Given the description of an element on the screen output the (x, y) to click on. 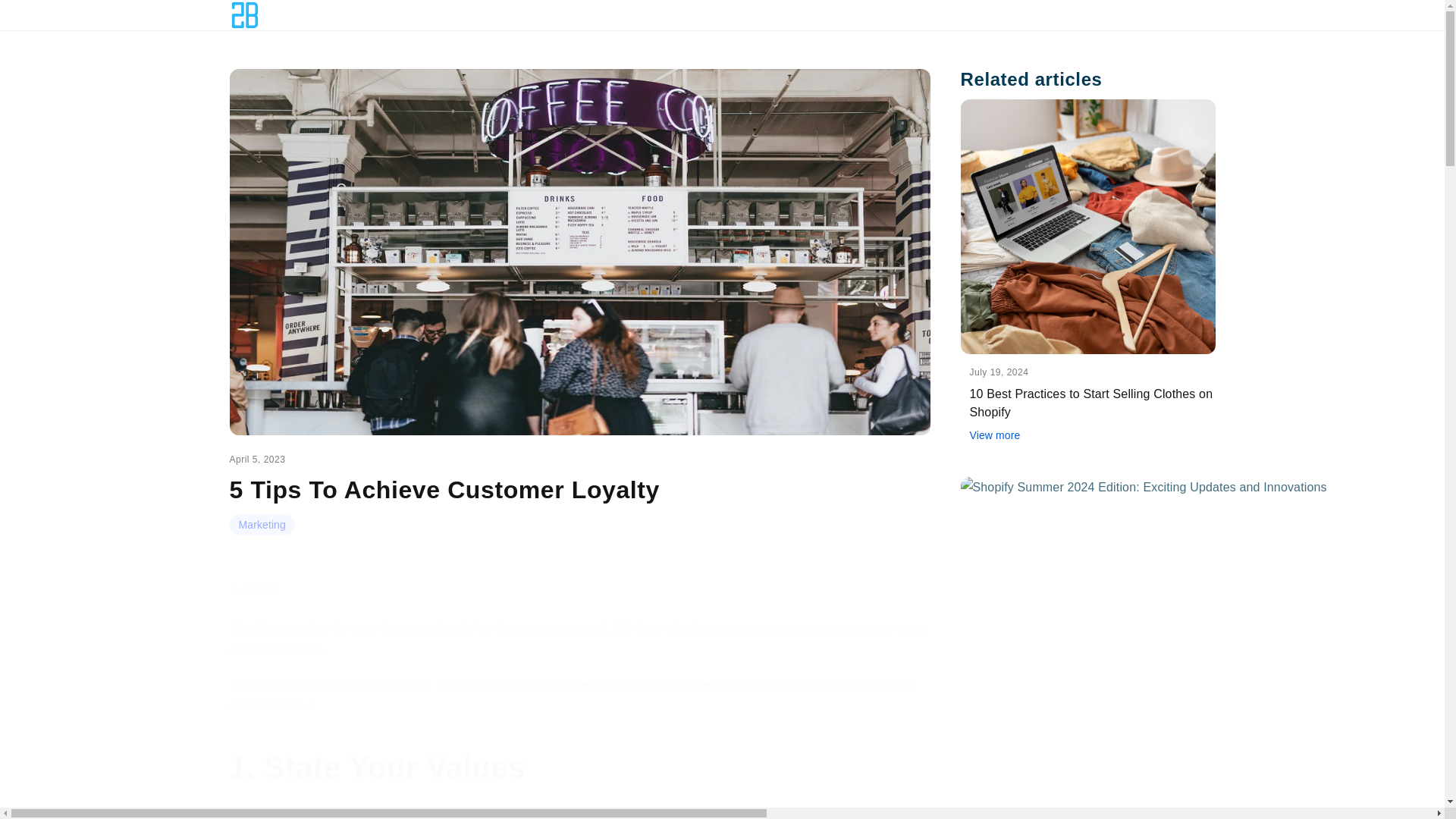
View more (1091, 435)
Apps (877, 14)
Blogs (443, 494)
Contact us (1058, 14)
Skip to content (1167, 15)
some tips  (24, 8)
Mobile Commerce (759, 627)
About Us (795, 14)
10 Best Practices to Start Selling Clothes on Shopify (998, 14)
